Given the description of an element on the screen output the (x, y) to click on. 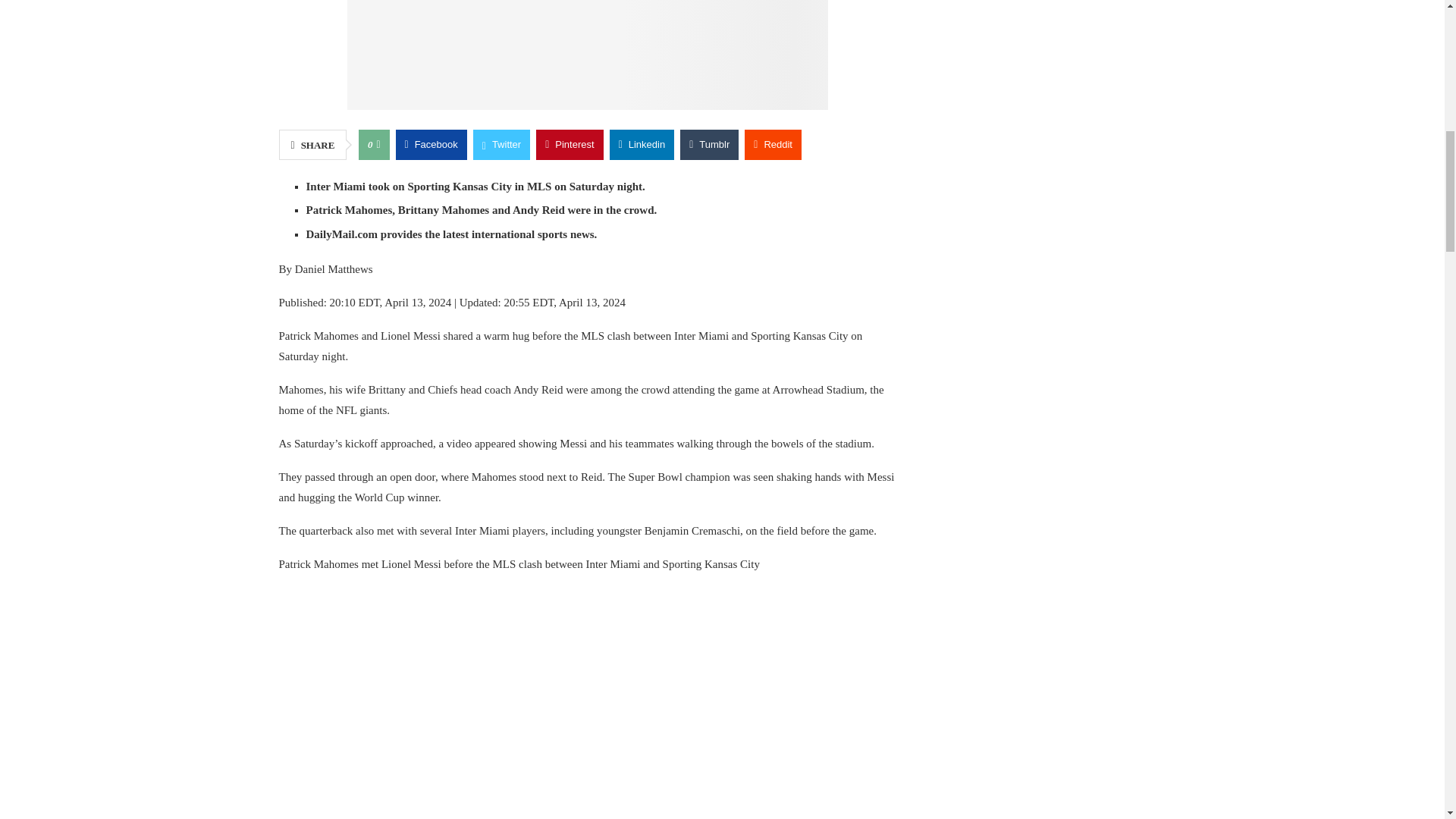
Like (377, 144)
